Given the description of an element on the screen output the (x, y) to click on. 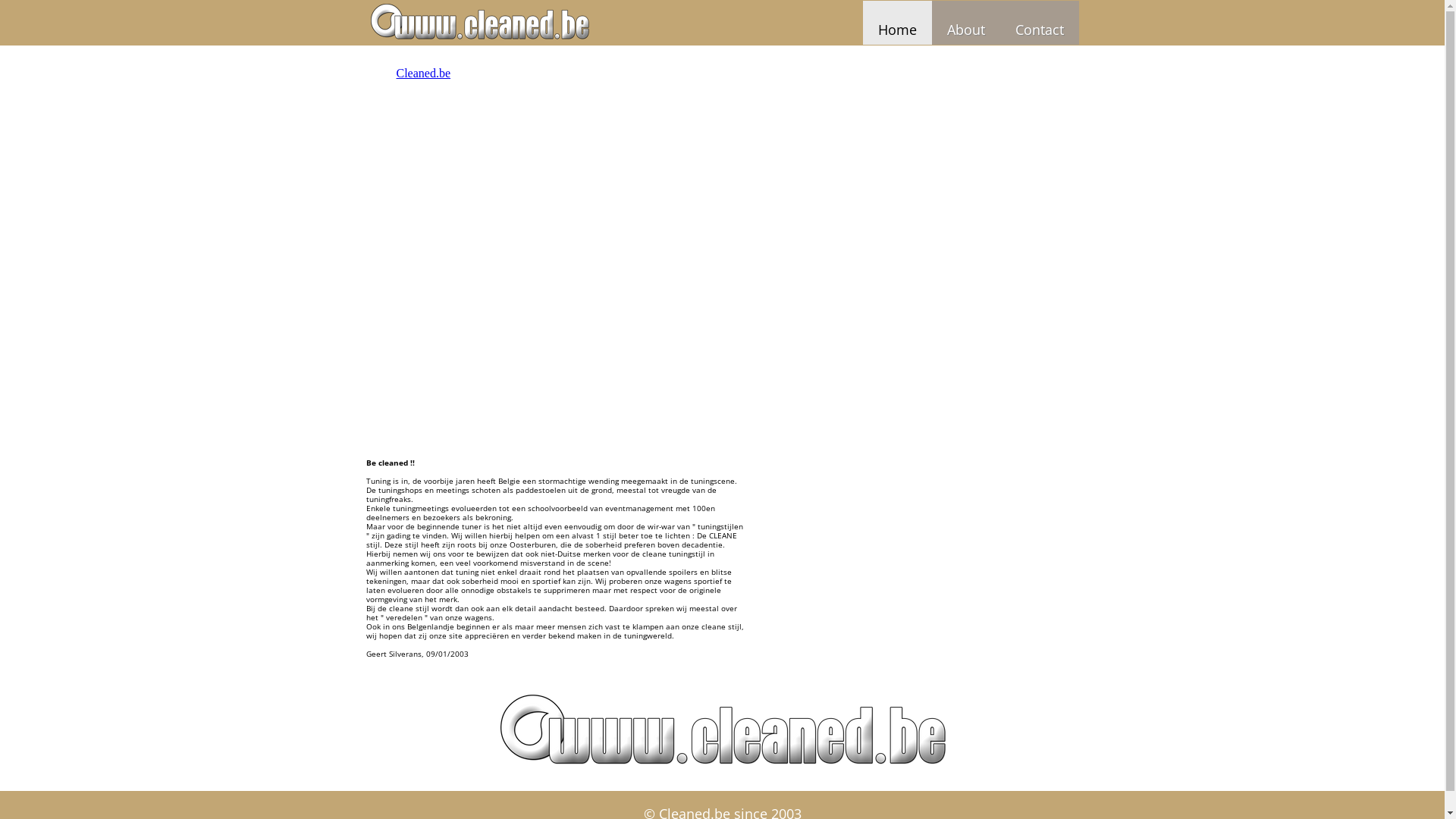
Home
About
Contact Element type: text (721, 22)
Advertisement Element type: hover (923, 160)
Cleaned.be Element type: text (422, 72)
Home Element type: text (896, 22)
About Element type: text (965, 22)
Contact Element type: text (1038, 22)
